Given the description of an element on the screen output the (x, y) to click on. 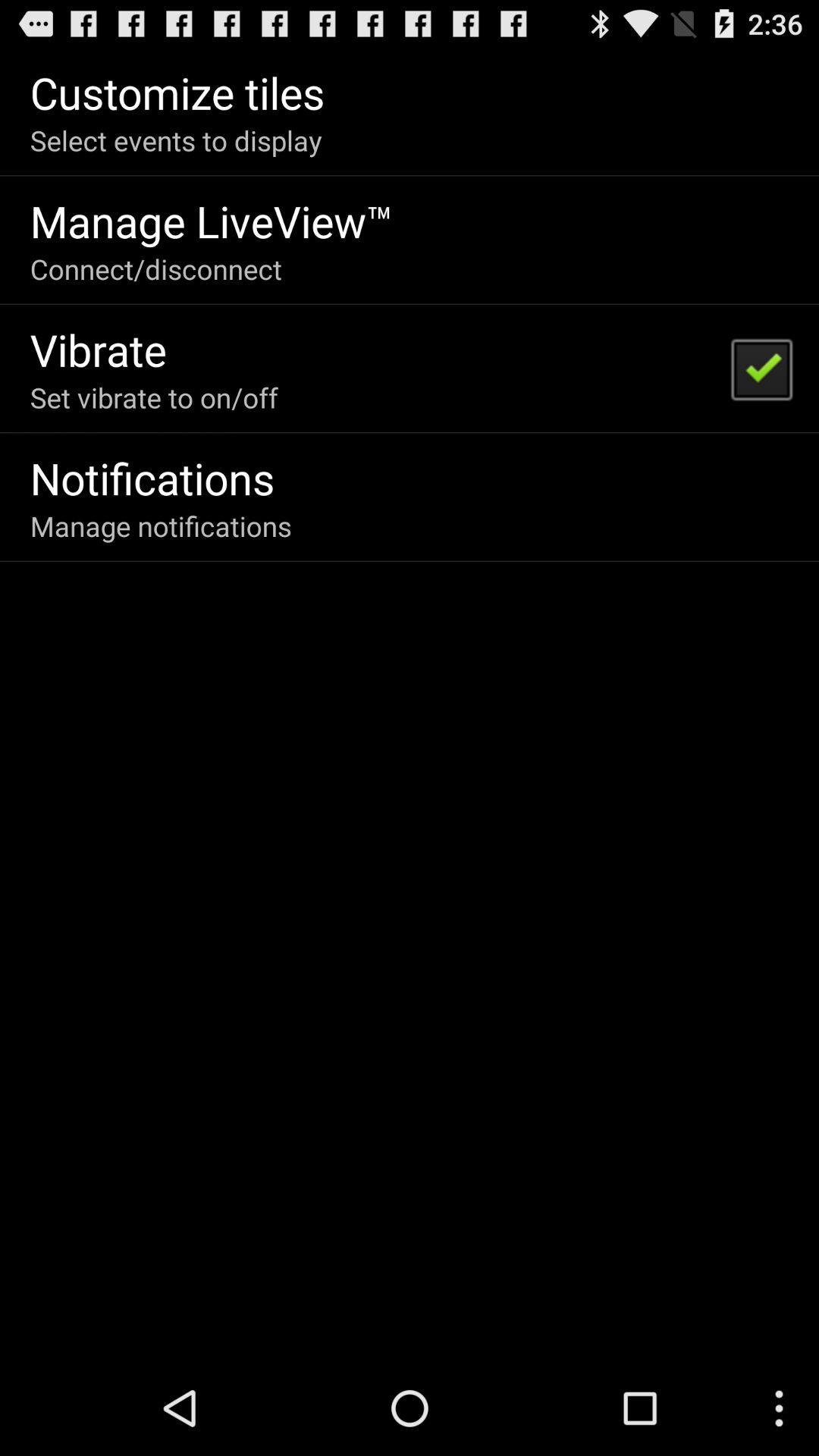
launch the set vibrate to item (154, 397)
